Given the description of an element on the screen output the (x, y) to click on. 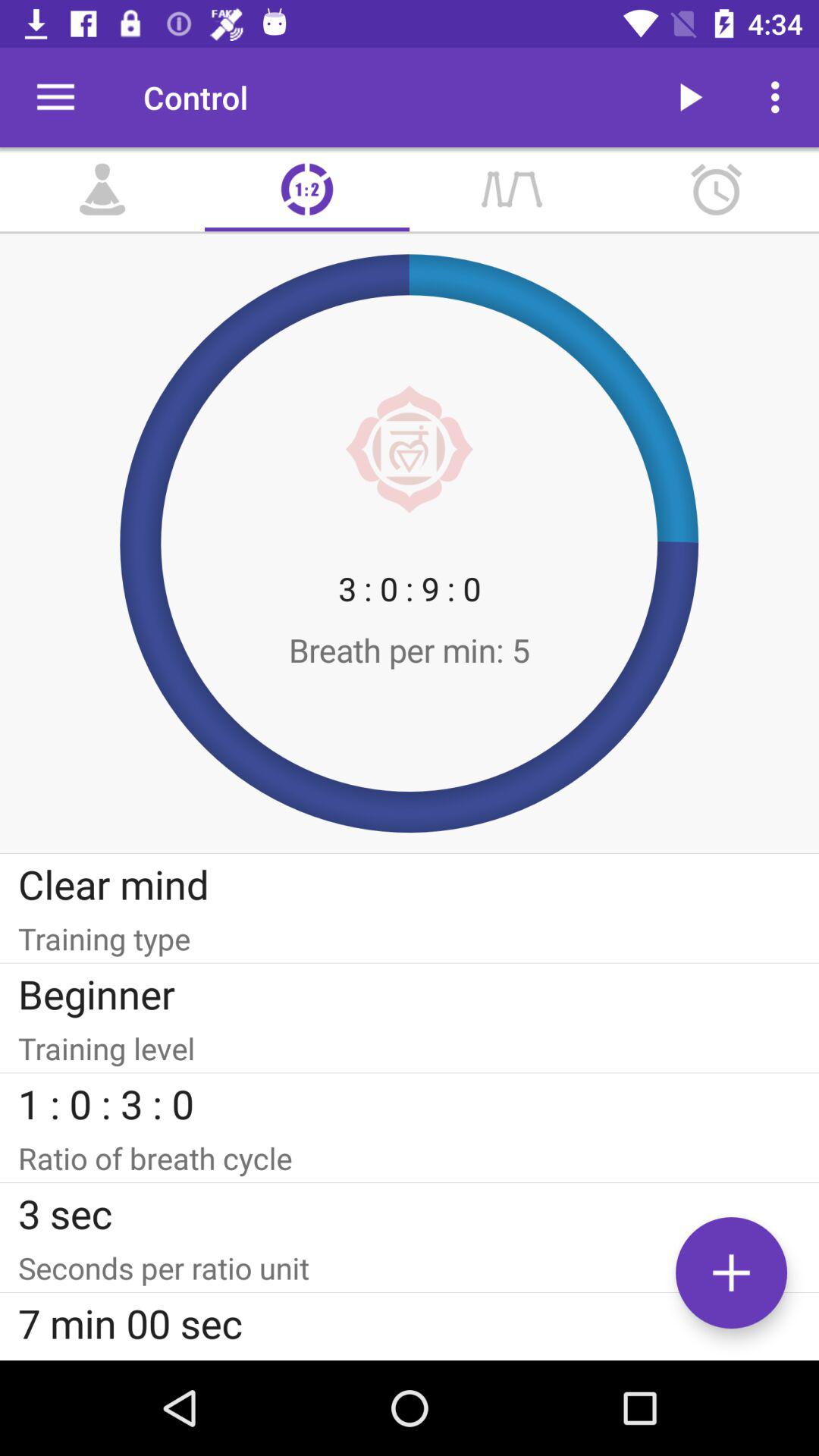
choose the icon below the seconds per ratio item (409, 1322)
